Given the description of an element on the screen output the (x, y) to click on. 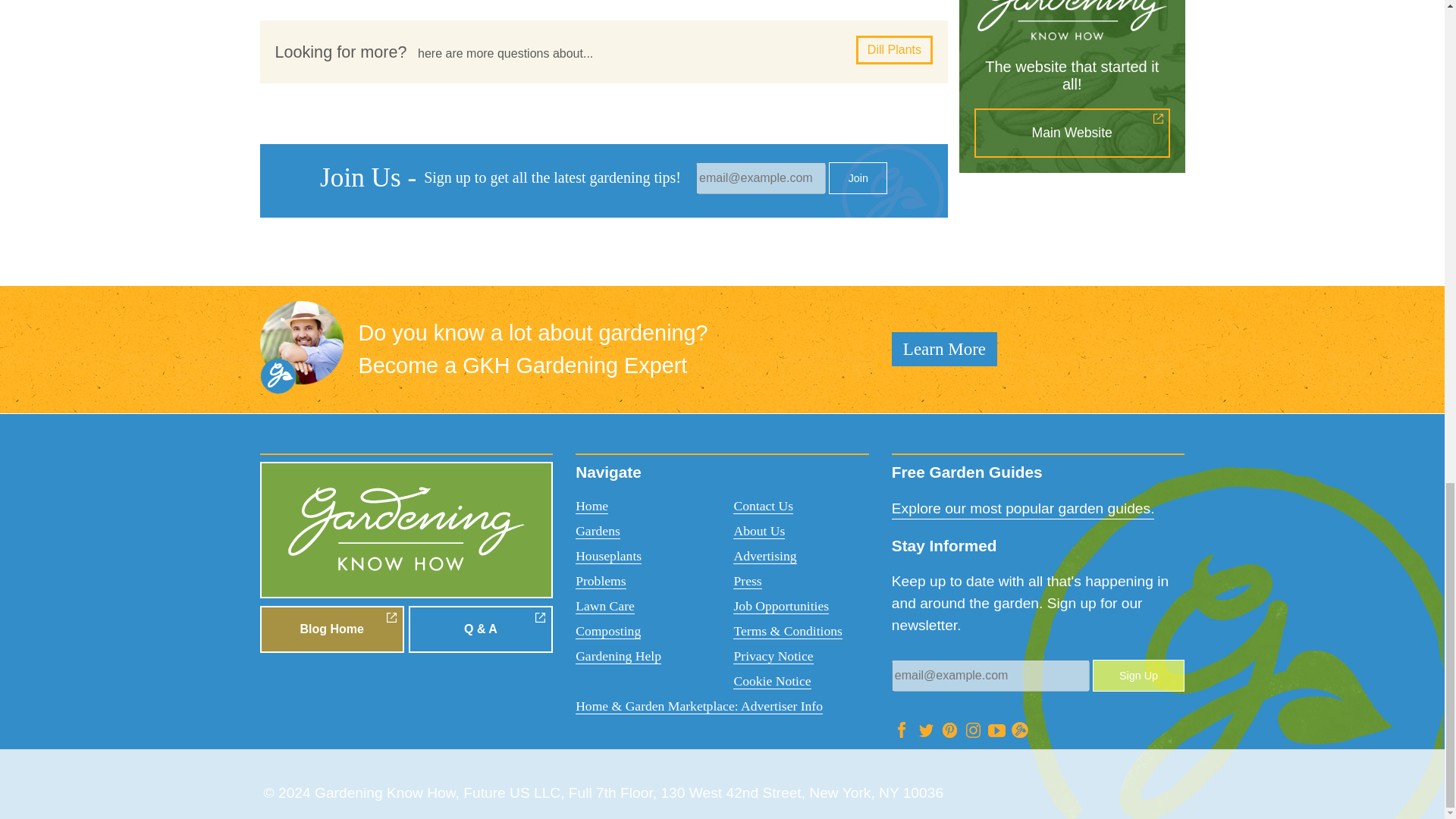
Join (857, 178)
Dill Plants (894, 50)
